Given the description of an element on the screen output the (x, y) to click on. 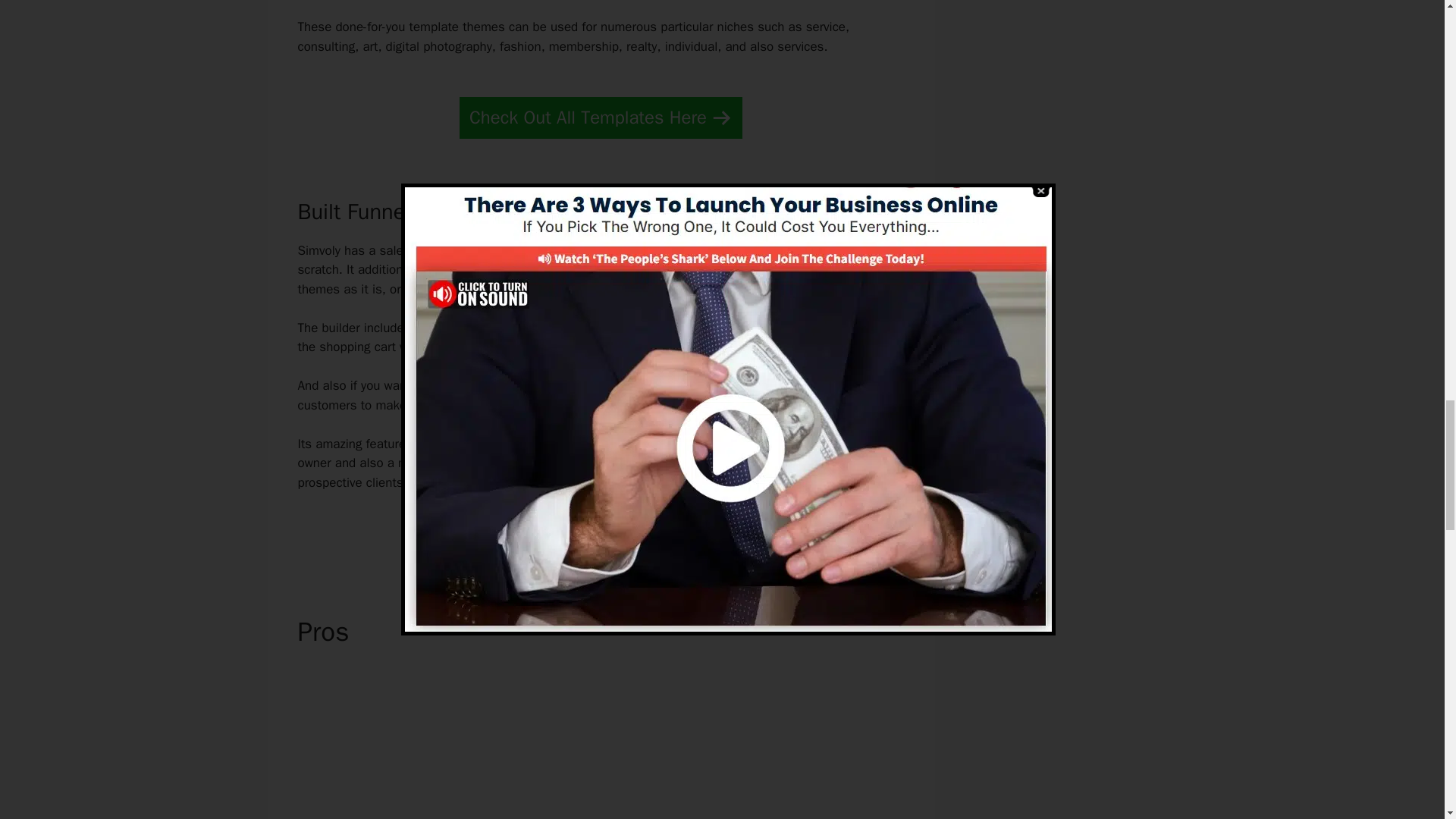
Check Out All Templates Here (601, 117)
Discover More On This Here (601, 535)
